Given the description of an element on the screen output the (x, y) to click on. 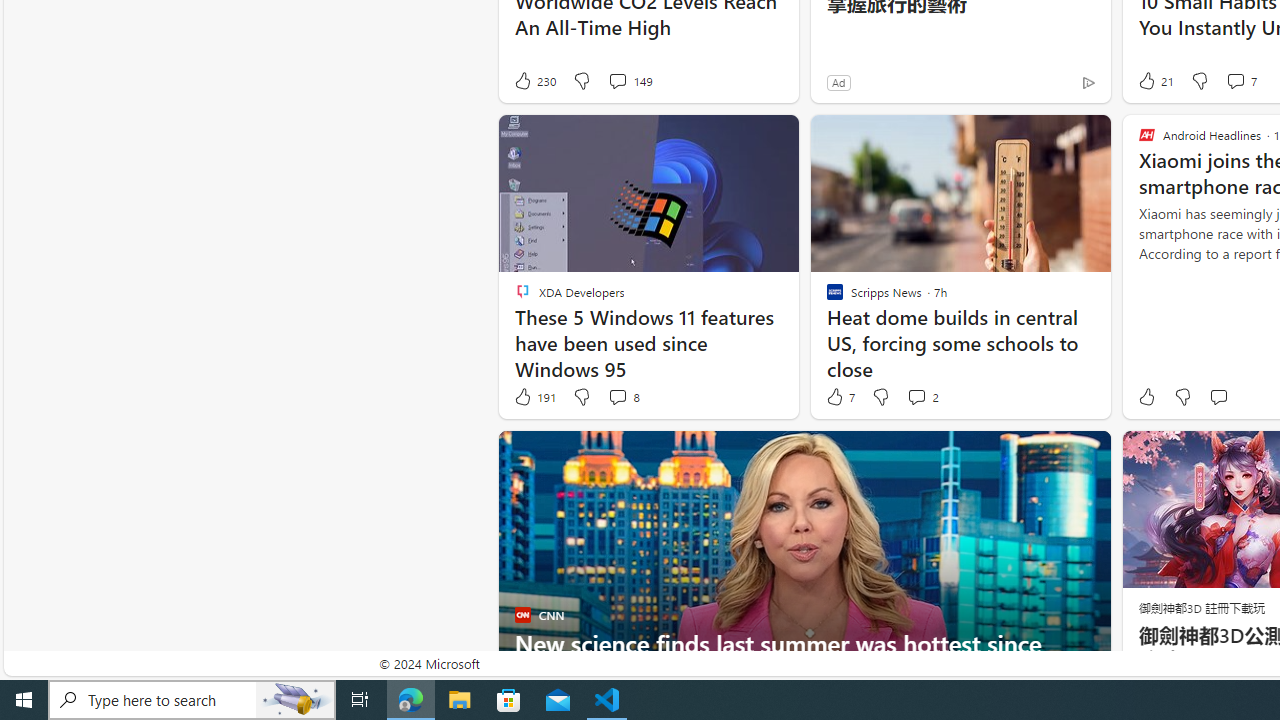
191 Like (534, 397)
Hide this story (1050, 454)
View comments 2 Comment (922, 397)
View comments 8 Comment (617, 396)
